Given the description of an element on the screen output the (x, y) to click on. 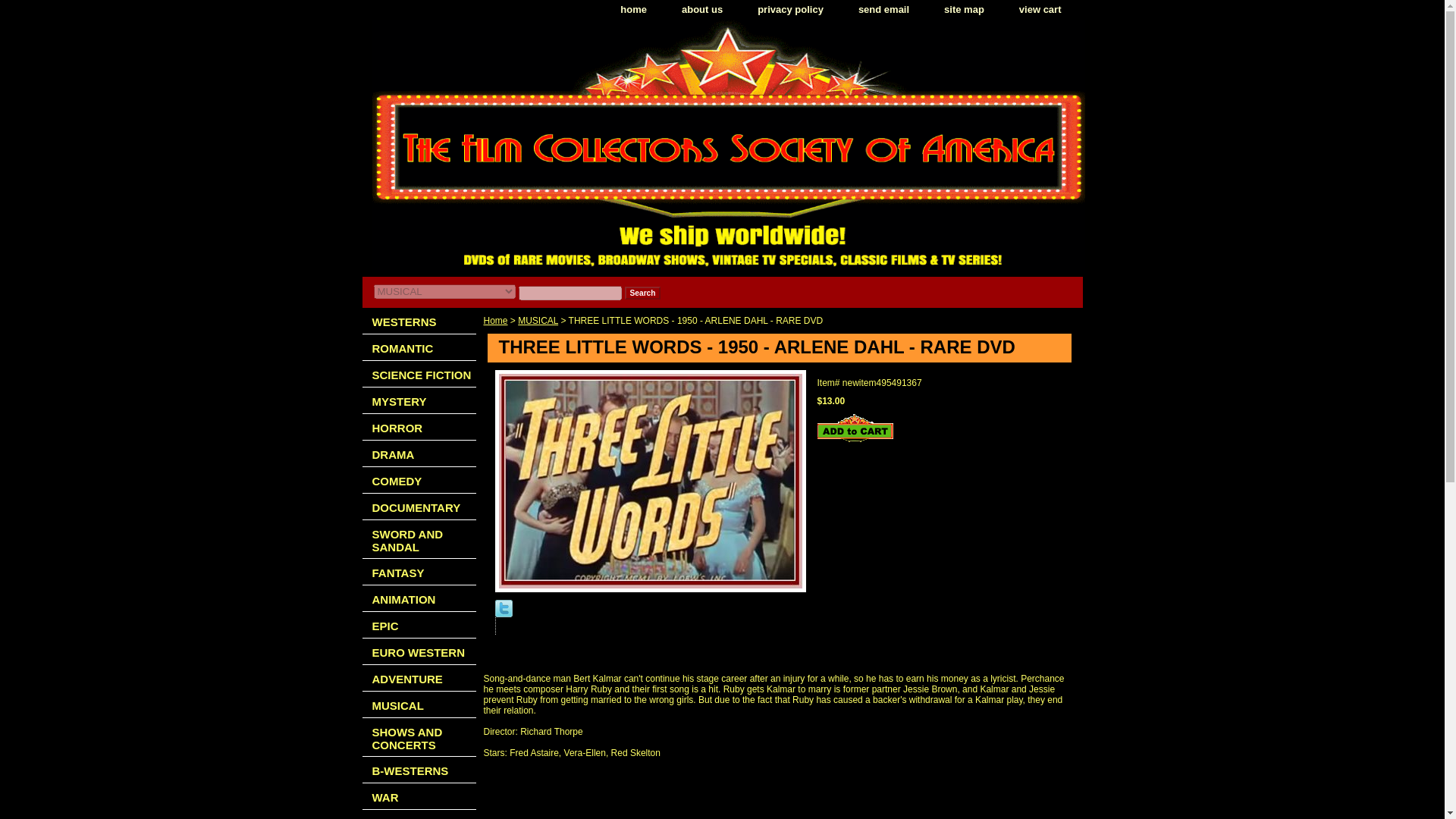
DOCUMENTARY (419, 506)
THREE LITTLE WORDS - 1950 - ARLENE DAHL - RARE DVD (650, 481)
FANTASY (419, 571)
Add to cart (854, 428)
MUSICAL (419, 704)
SCIENCE FICTION (419, 374)
ROMANTIC (419, 347)
EPIC (419, 624)
B-WESTERNS (419, 769)
ADVENTURE (419, 678)
